Given the description of an element on the screen output the (x, y) to click on. 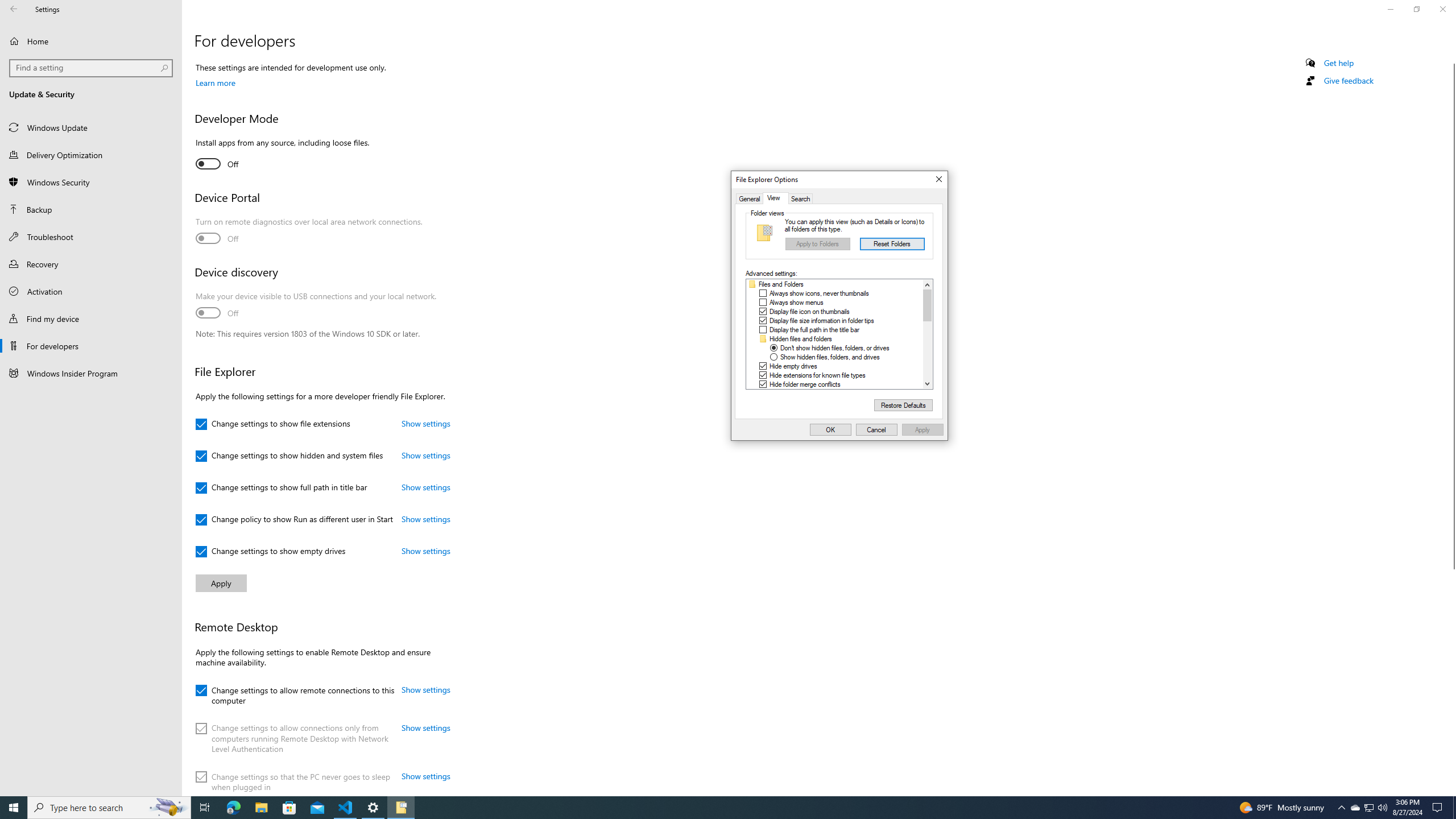
Type here to search (108, 807)
File Explorer (261, 807)
Hide extensions for known file types (817, 375)
Apply (922, 429)
Close (937, 179)
Search highlights icon opens search home window (167, 807)
Vertical (927, 334)
Microsoft Store (289, 807)
Don't show hidden files, folders, or drives (1368, 807)
Restore Defaults (834, 347)
Q2790: 100% (903, 404)
